Given the description of an element on the screen output the (x, y) to click on. 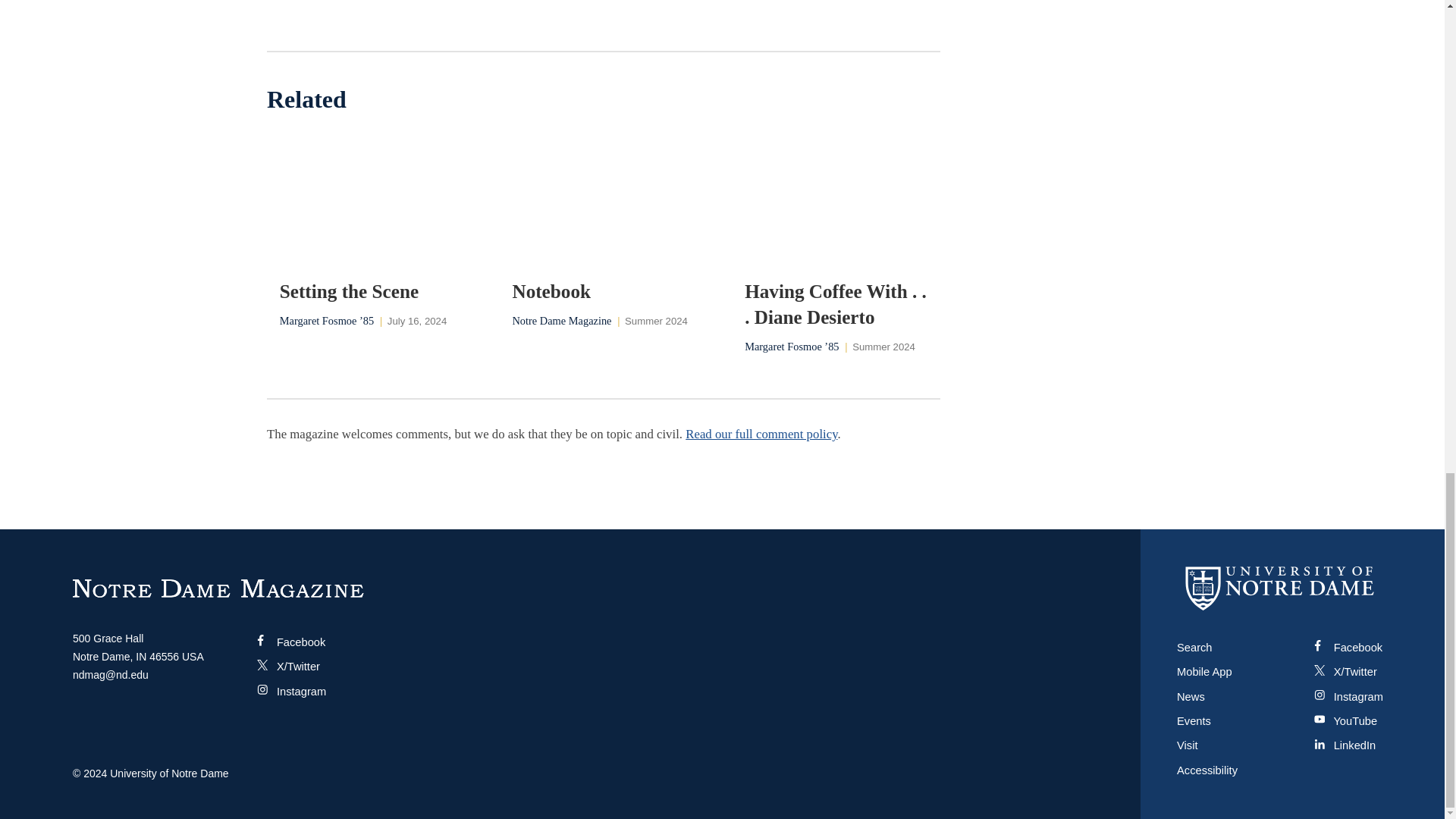
Notebook (603, 291)
Read our full comment policy (761, 433)
Having Coffee With . . . Diane Desierto (835, 304)
Facebook (291, 641)
Setting the Scene (371, 291)
